Given the description of an element on the screen output the (x, y) to click on. 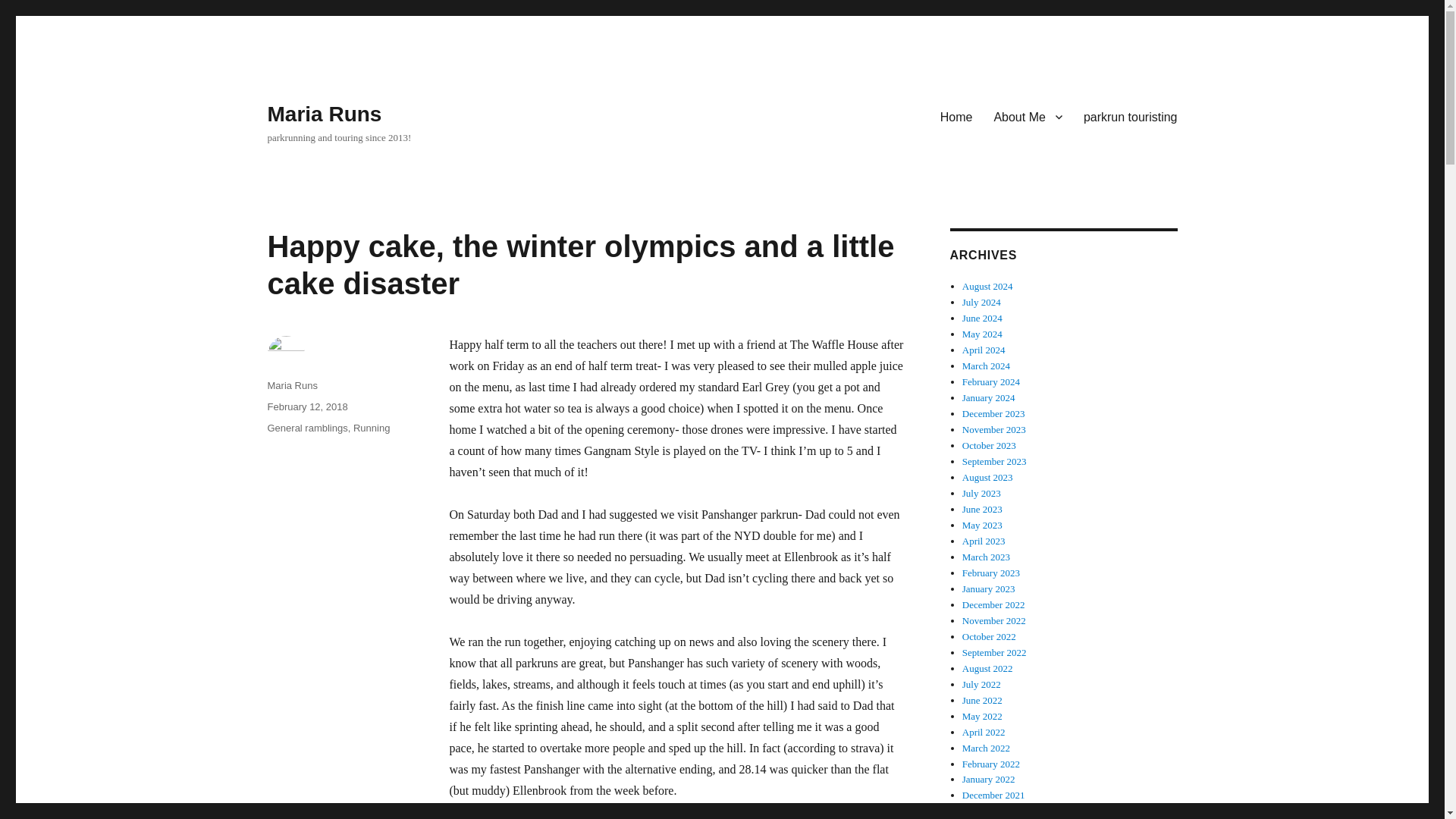
Maria Runs (291, 385)
parkrun touristing (1130, 116)
Maria Runs (323, 114)
July 2024 (981, 301)
About Me (1026, 116)
Home (957, 116)
February 12, 2018 (306, 406)
August 2024 (987, 285)
June 2024 (982, 317)
General ramblings (306, 428)
